Given the description of an element on the screen output the (x, y) to click on. 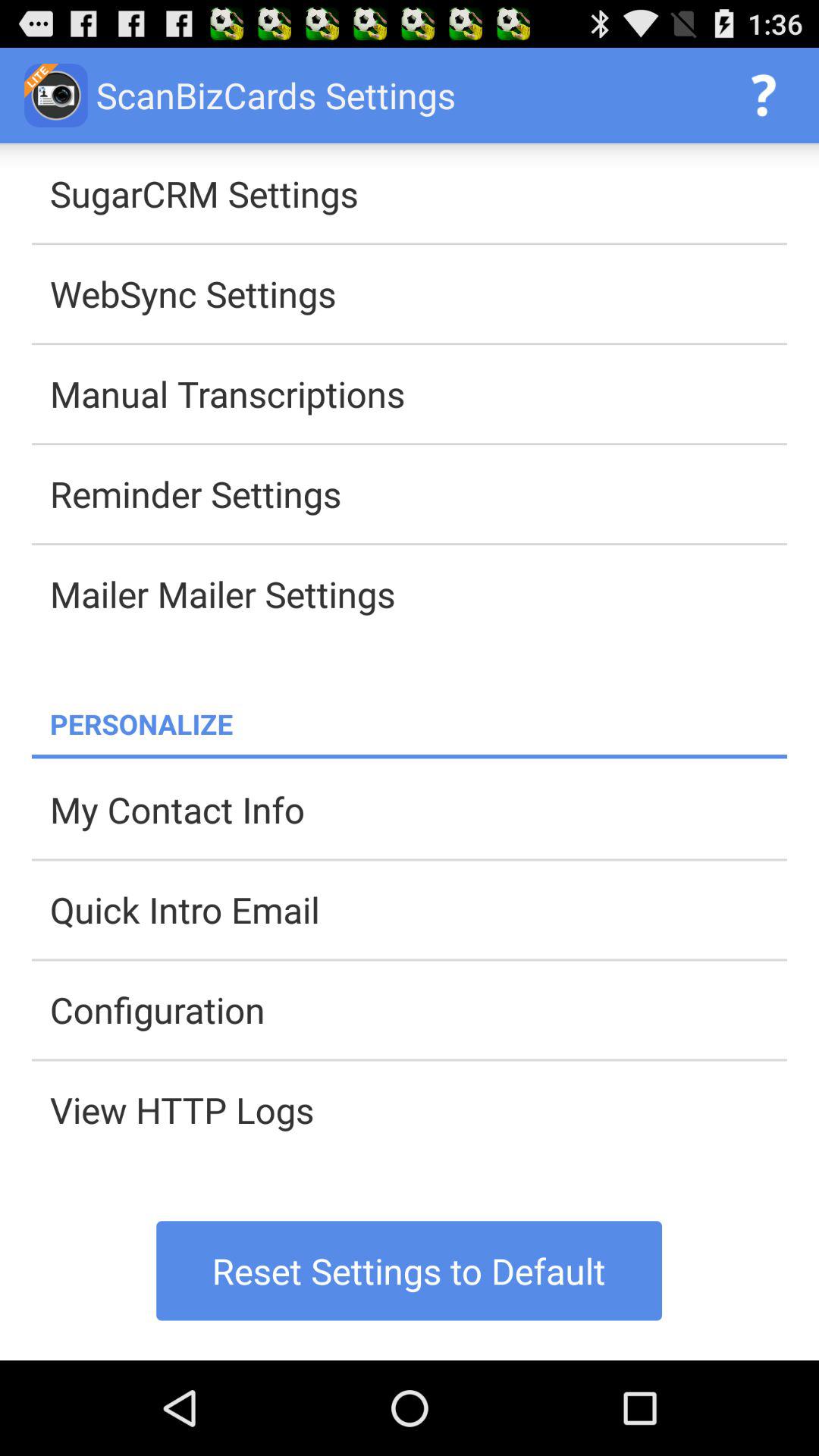
click the app above the websync settings item (418, 193)
